Given the description of an element on the screen output the (x, y) to click on. 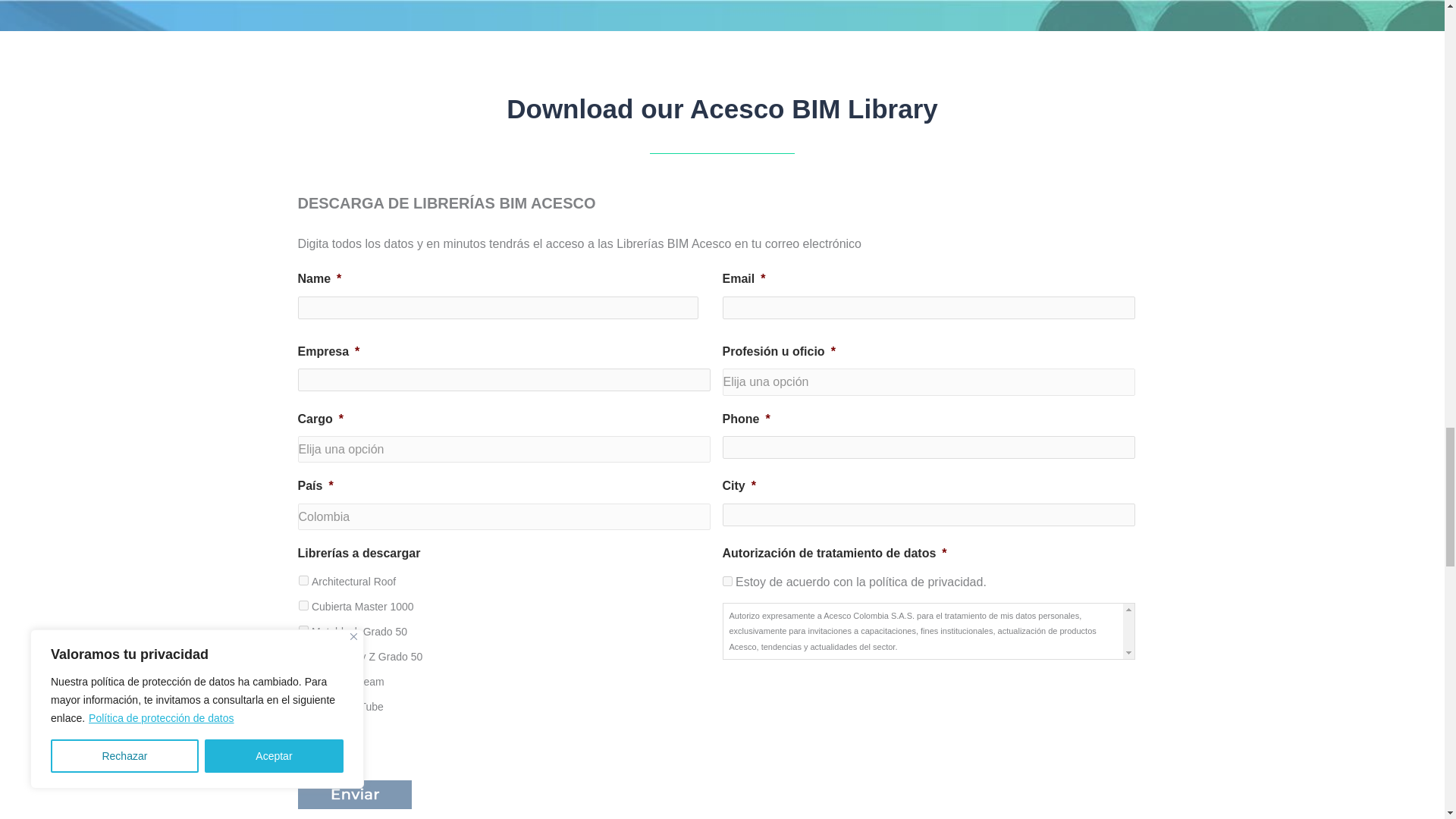
1 (727, 581)
